Given the description of an element on the screen output the (x, y) to click on. 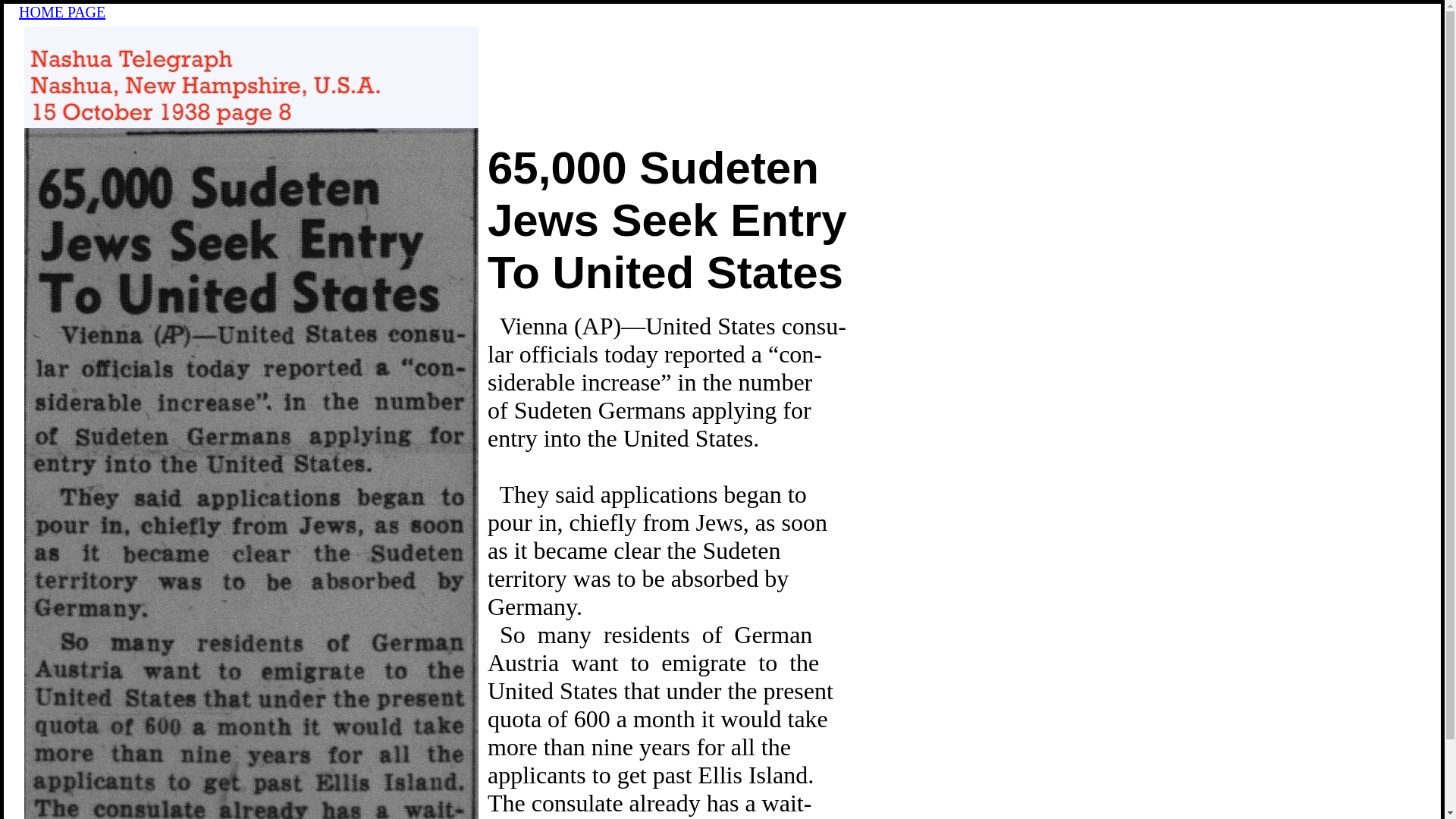
HOME PAGE (61, 12)
